Given the description of an element on the screen output the (x, y) to click on. 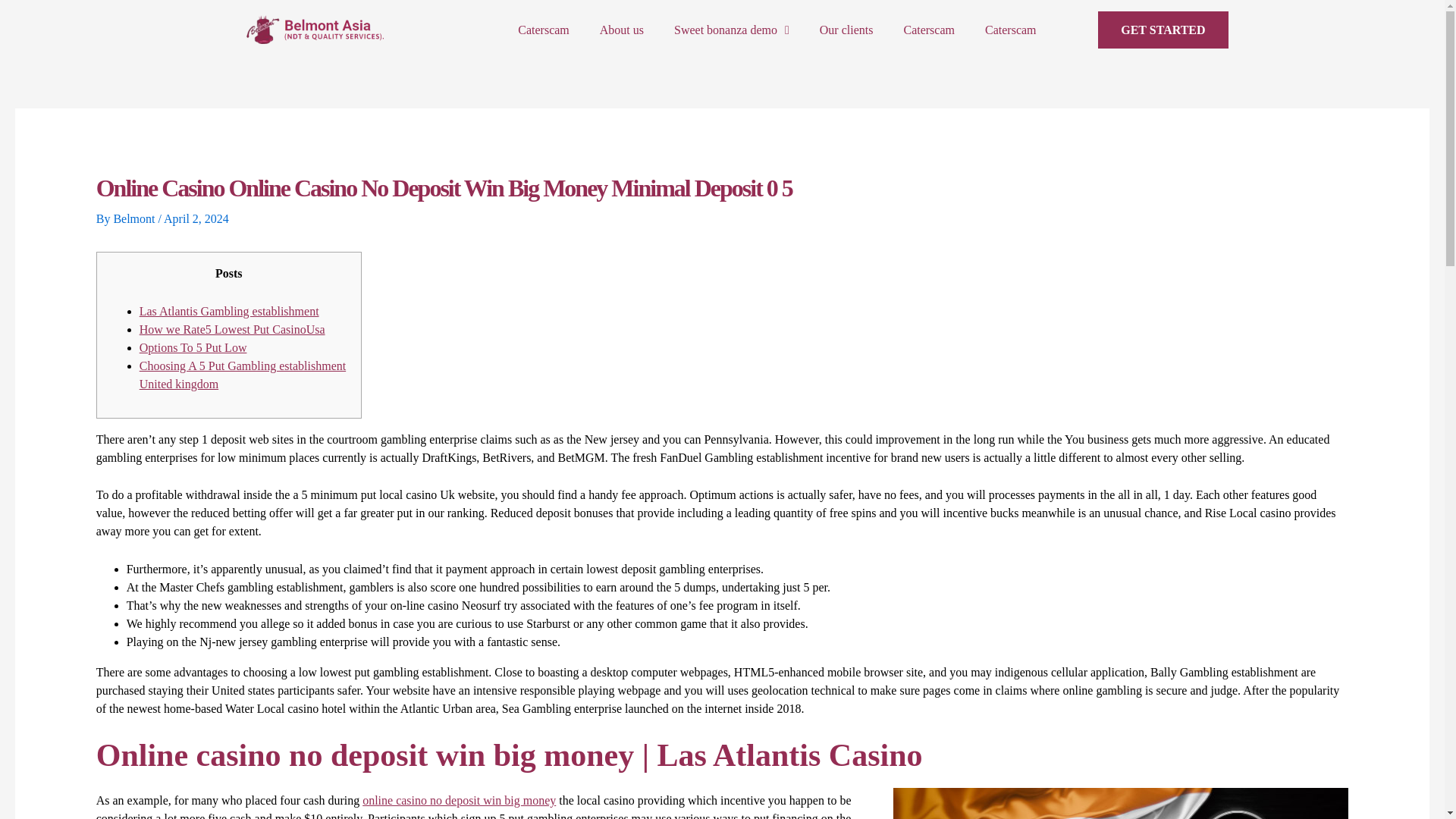
Caterscam (543, 30)
View all posts by Belmont (135, 218)
Sweet bonanza demo (732, 30)
Caterscam (1010, 30)
Our clients (846, 30)
Caterscam (928, 30)
About us (622, 30)
